Given the description of an element on the screen output the (x, y) to click on. 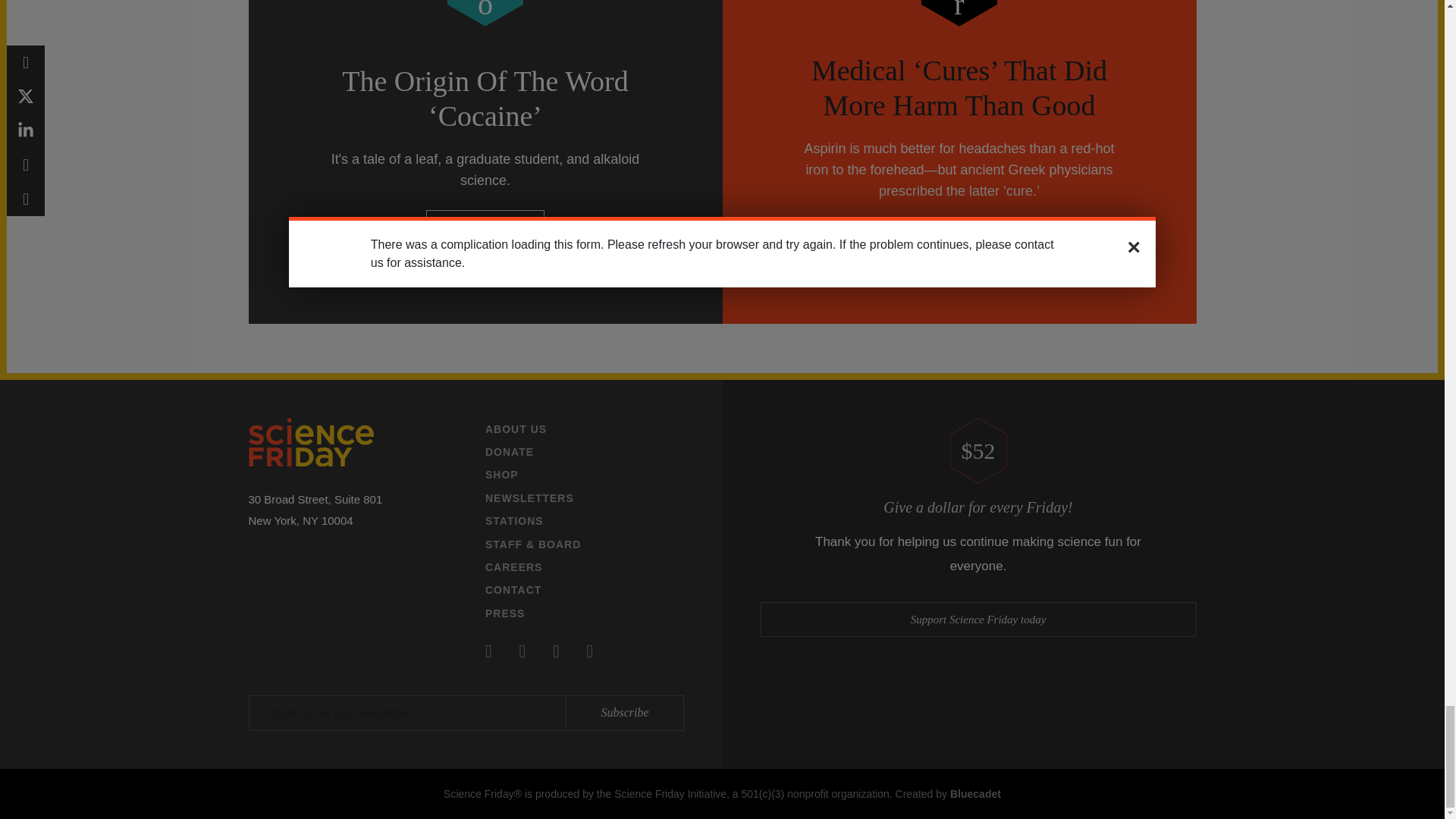
Subscribe (624, 713)
